Given the description of an element on the screen output the (x, y) to click on. 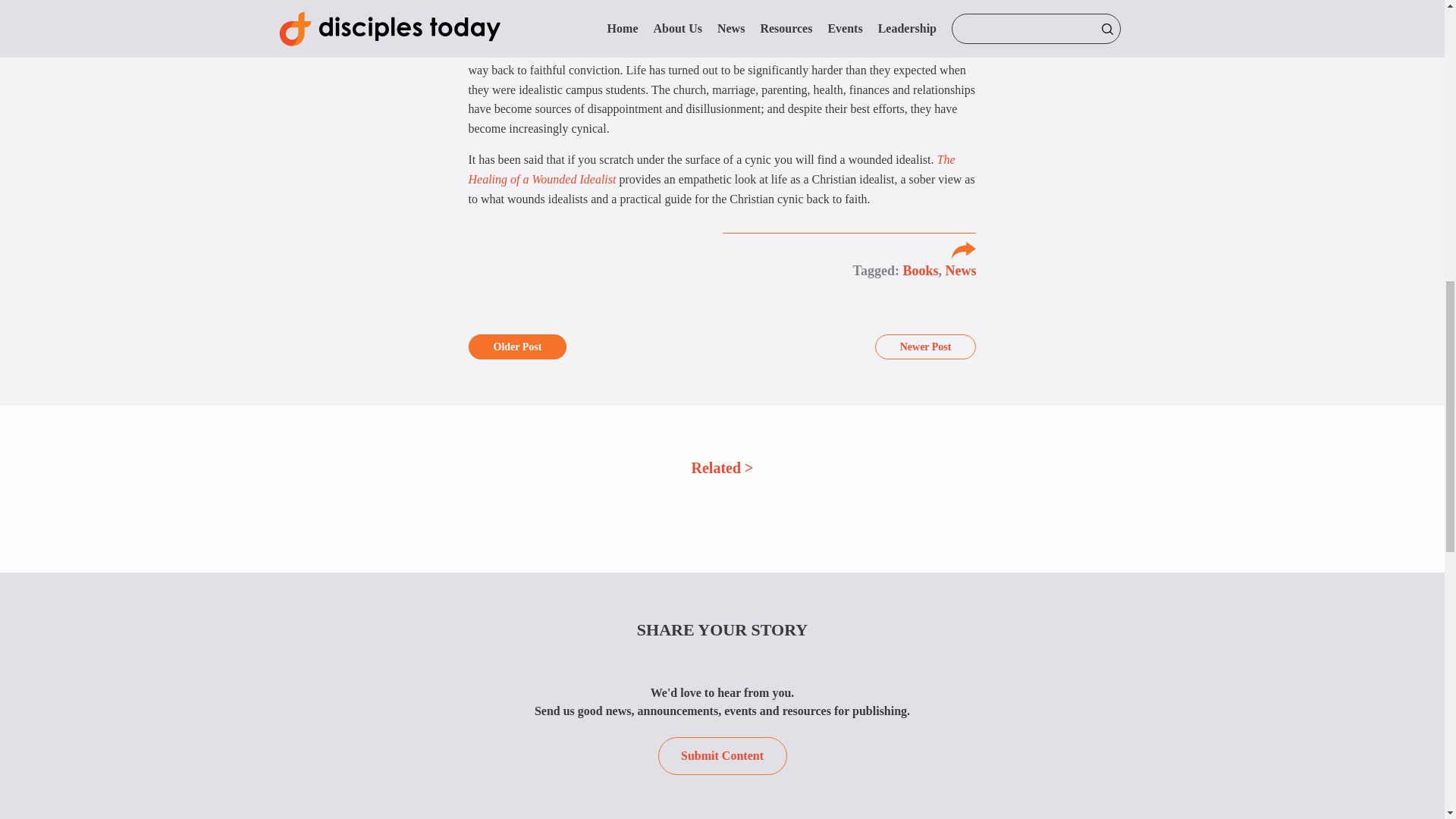
News (959, 271)
Books (919, 271)
The Healing of a Wounded Idealist (711, 169)
